Given the description of an element on the screen output the (x, y) to click on. 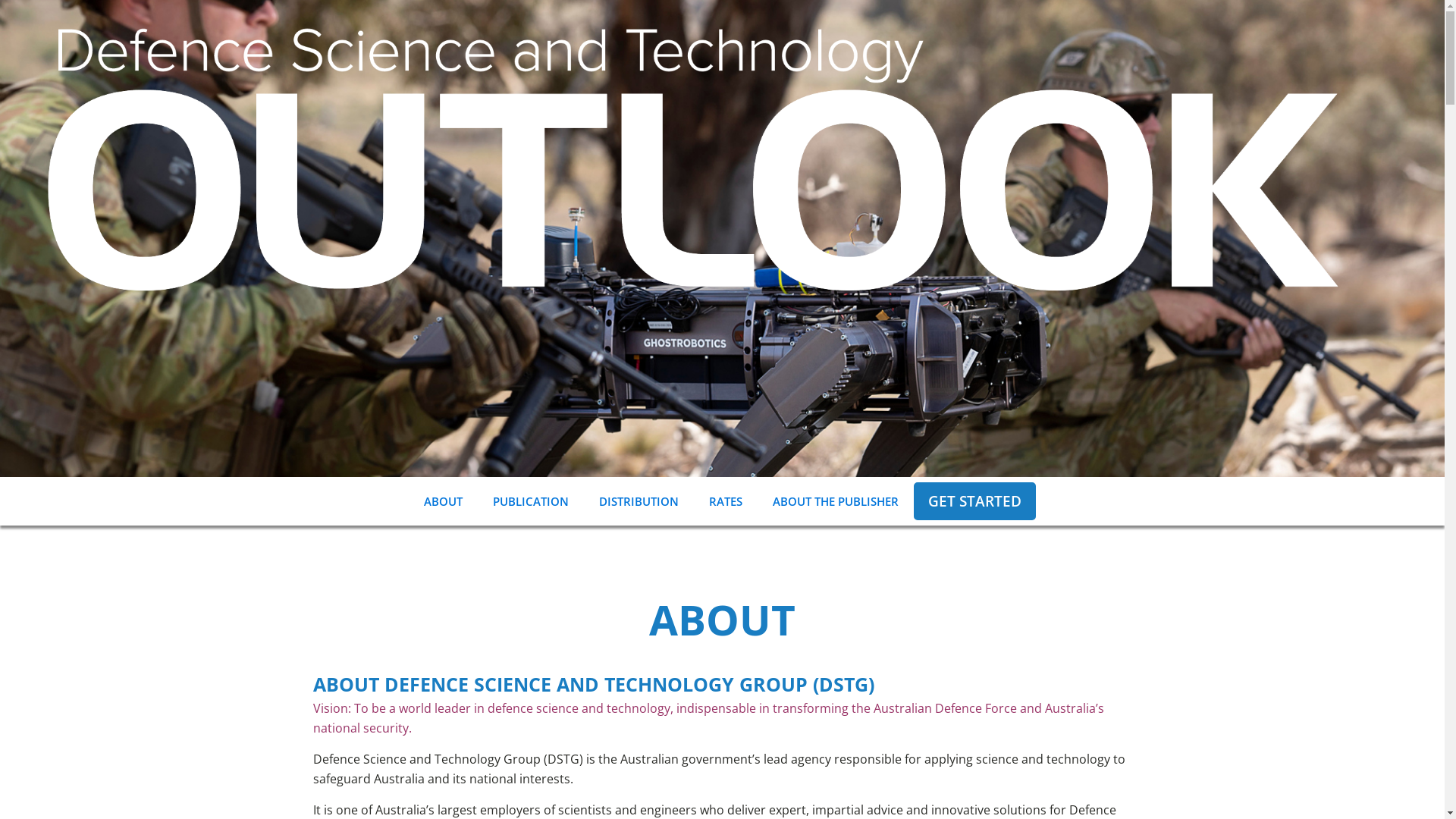
ABOUT Element type: text (442, 500)
 GET STARTED  Element type: text (974, 501)
ABOUT THE PUBLISHER Element type: text (835, 500)
PUBLICATION Element type: text (530, 500)
RATES Element type: text (725, 500)
DISTRIBUTION Element type: text (638, 500)
